Given the description of an element on the screen output the (x, y) to click on. 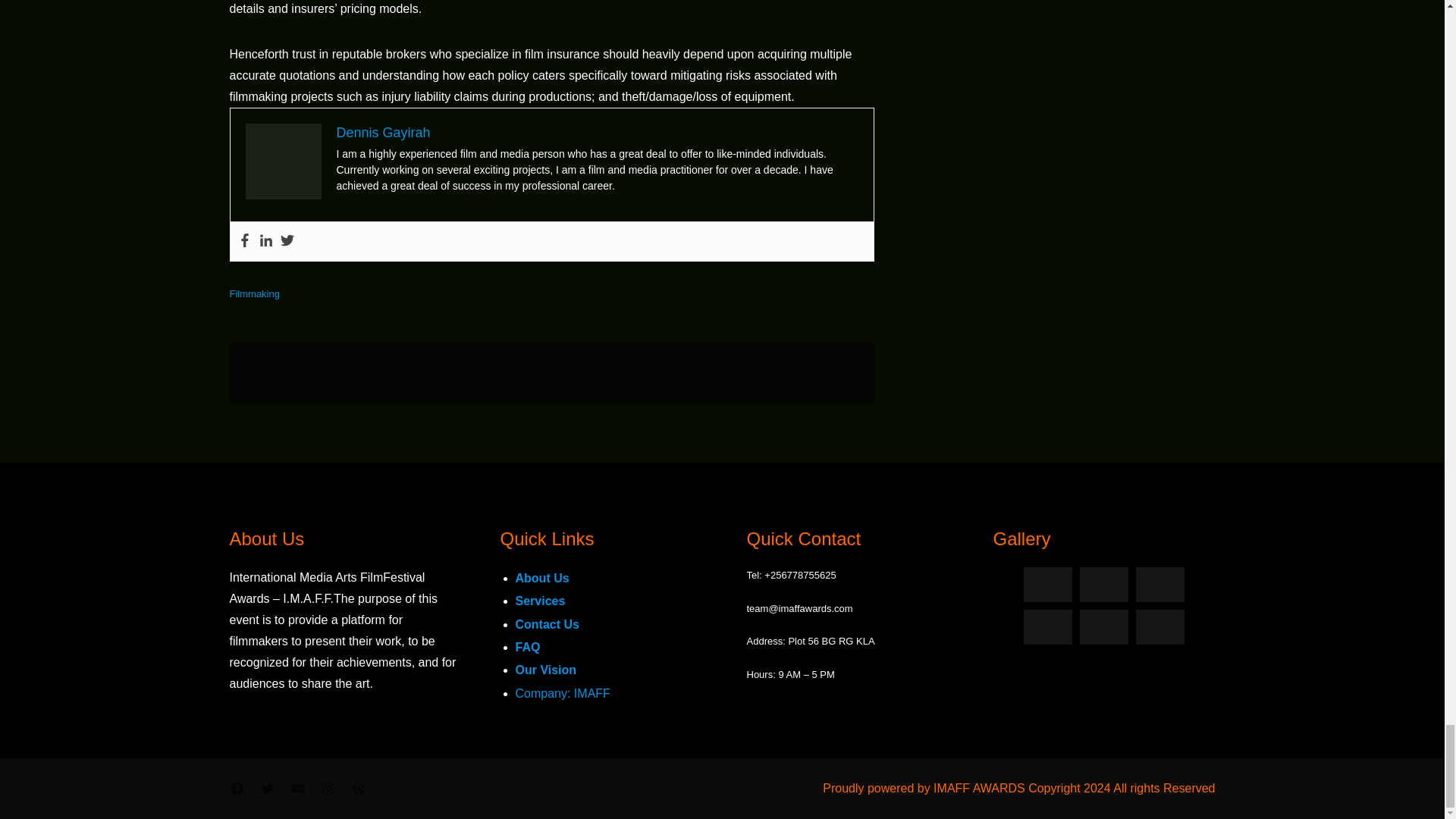
Twitter (287, 241)
Dennis Gayirah (383, 132)
Facebook (244, 241)
Filmmaking (253, 293)
Linkedin (266, 241)
